Given the description of an element on the screen output the (x, y) to click on. 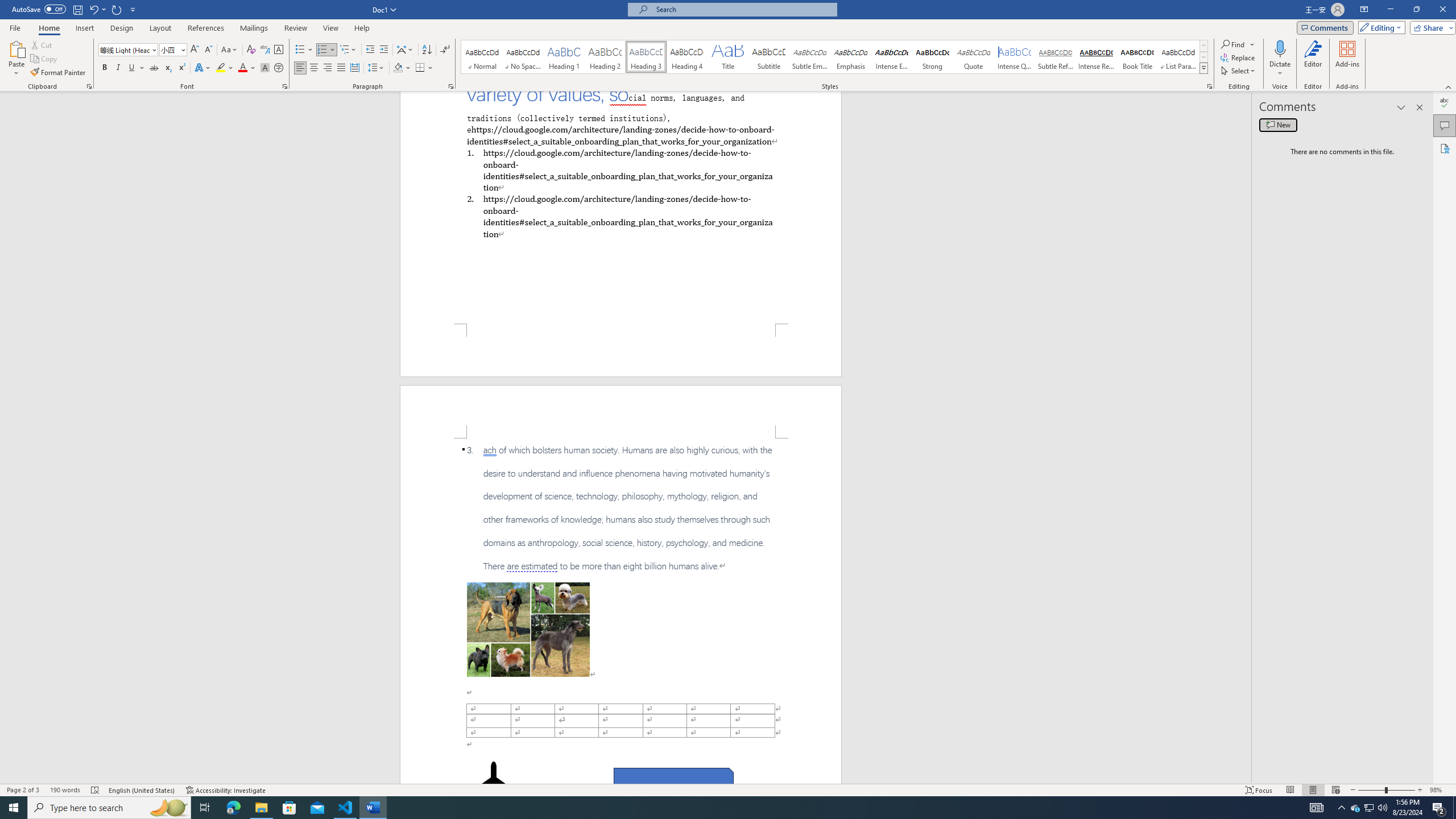
Rectangle: Diagonal Corners Snipped 2 (672, 781)
Repeat Underline Style (117, 9)
Text Highlight Color (224, 67)
Replace... (1237, 56)
Morphological variation in six dogs (528, 629)
Center (313, 67)
Intense Quote (1014, 56)
Justify (340, 67)
Enclose Characters... (278, 67)
